Given the description of an element on the screen output the (x, y) to click on. 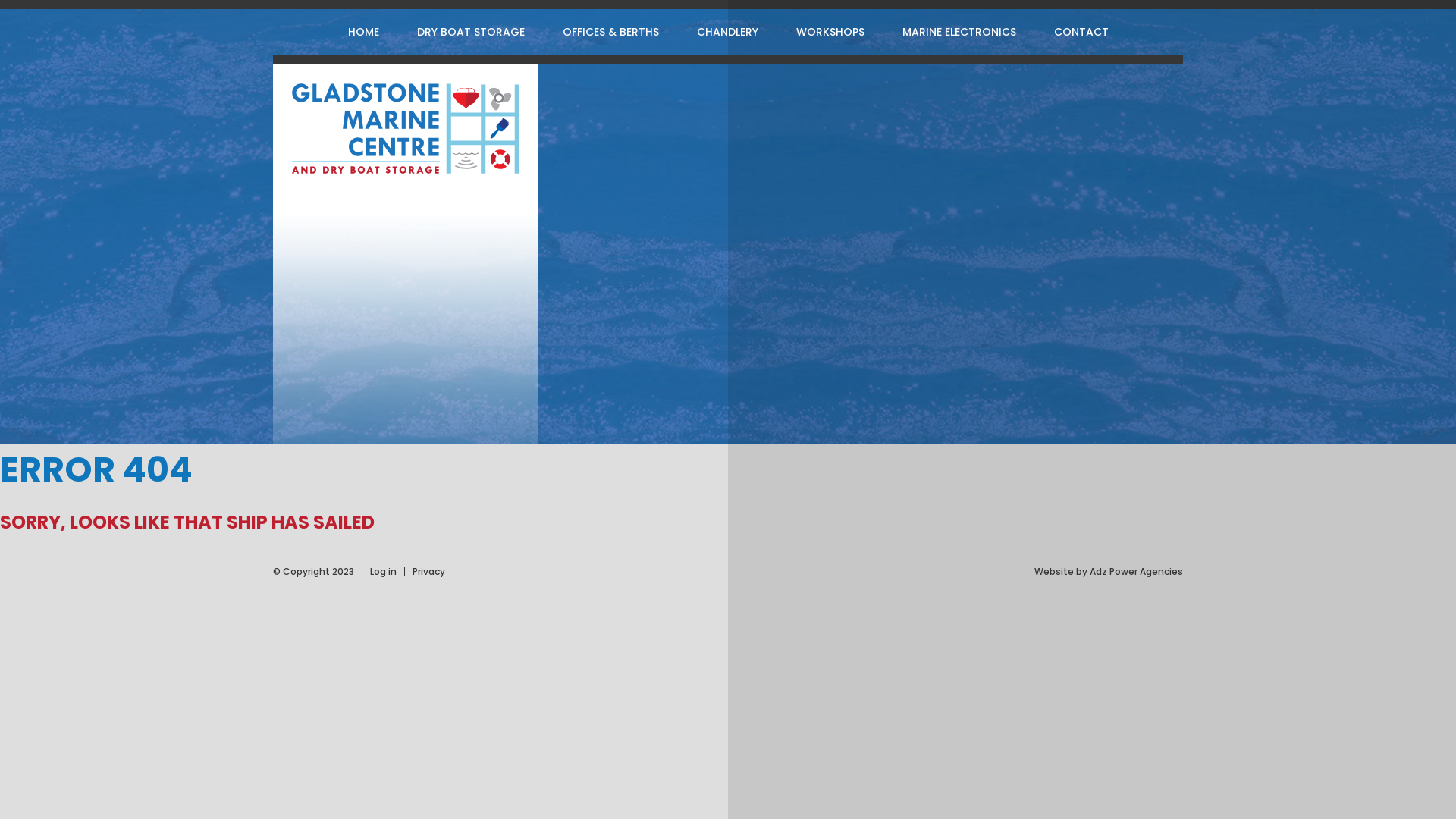
CHANDLERY Element type: text (727, 32)
DRY BOAT STORAGE Element type: text (469, 32)
Log in Element type: text (383, 570)
Website by Adz Power Agencies Element type: text (1108, 570)
CONTACT Element type: text (1080, 32)
OFFICES & BERTHS Element type: text (609, 32)
Privacy Element type: text (428, 570)
HOME Element type: text (363, 32)
MARINE ELECTRONICS Element type: text (958, 32)
WORKSHOPS Element type: text (829, 32)
